Given the description of an element on the screen output the (x, y) to click on. 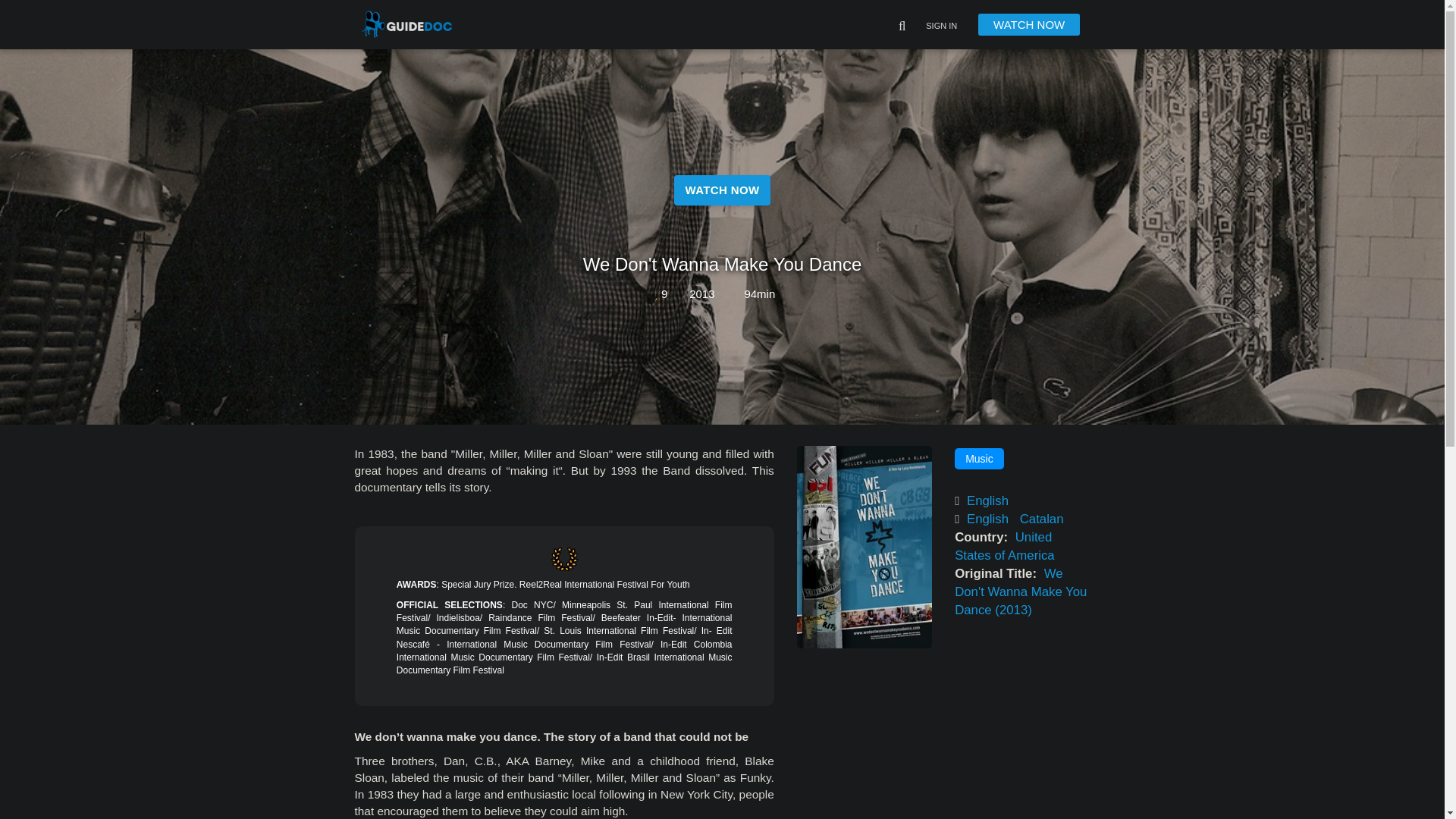
WATCH NOW (722, 208)
SIGN IN (941, 26)
Music (979, 458)
WATCH NOW (1029, 24)
Catalan (1041, 518)
English (986, 500)
English (986, 518)
United States of America (1006, 546)
WATCH NOW (722, 190)
